Given the description of an element on the screen output the (x, y) to click on. 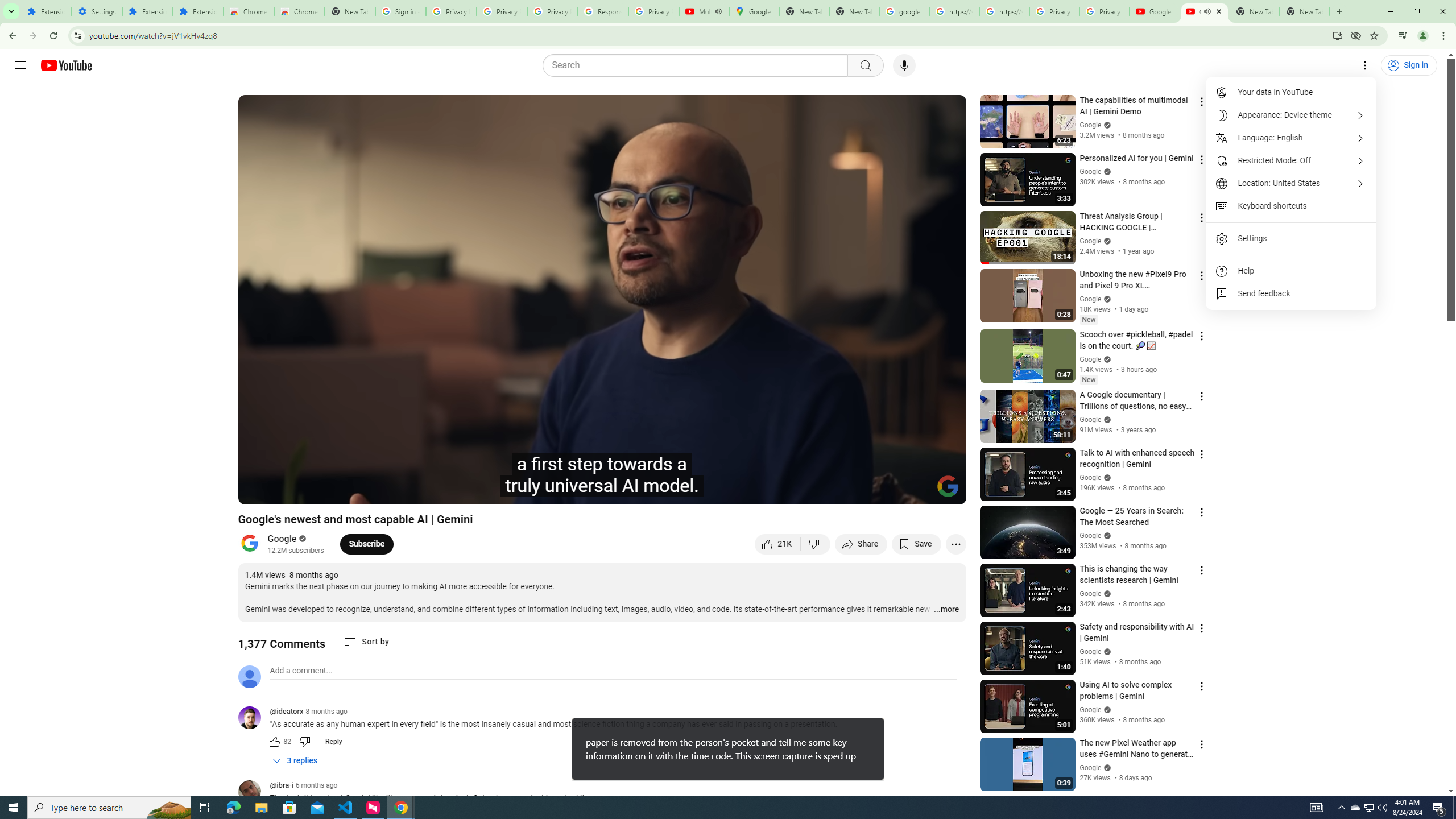
Action menu (1200, 802)
Subscribe to Google. (366, 543)
Play (k) (257, 490)
Share (861, 543)
@ideatorx (286, 711)
Reply (333, 741)
...more (946, 609)
Sign in - Google Accounts (399, 11)
Next (SHIFT+n) (284, 490)
More actions (955, 543)
